Given the description of an element on the screen output the (x, y) to click on. 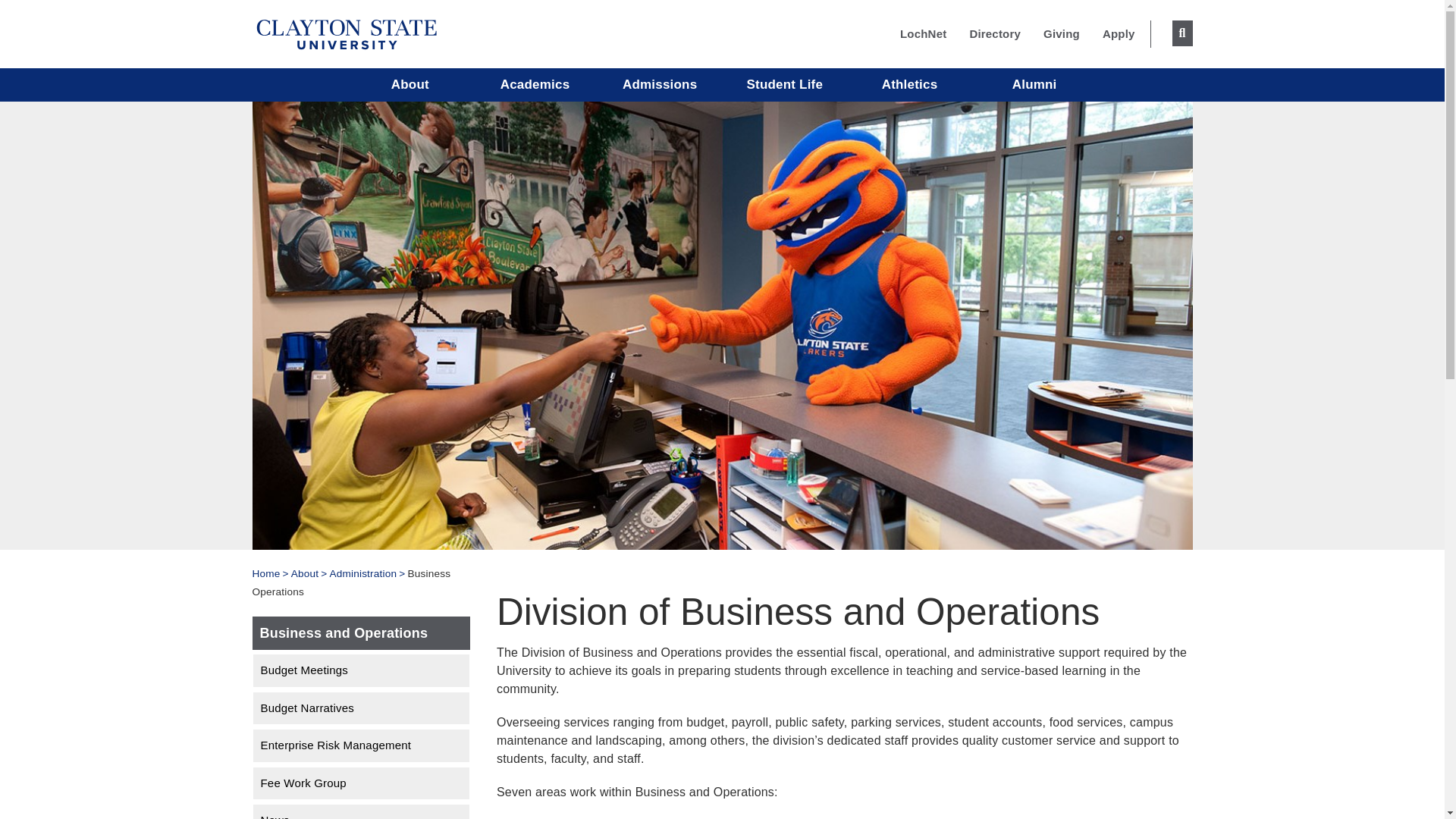
Directory (995, 33)
Apply (1118, 33)
LochNet (923, 33)
About (409, 84)
Academics (534, 84)
Admissions (659, 84)
Clayton State (346, 32)
Giving (1061, 33)
